Given the description of an element on the screen output the (x, y) to click on. 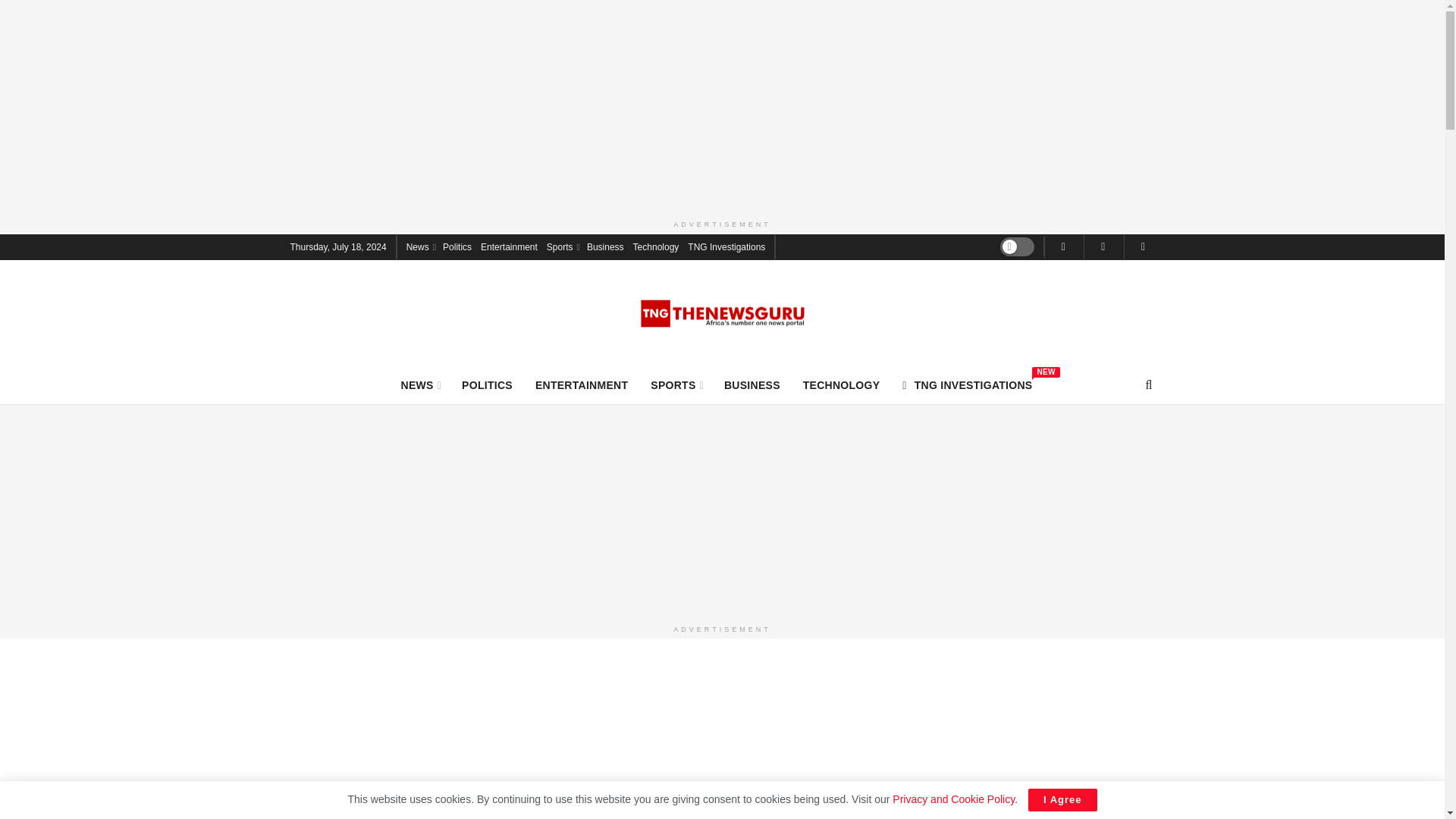
TECHNOLOGY (841, 384)
NEWS (420, 384)
SPORTS (967, 384)
POLITICS (675, 384)
Politics (486, 384)
Business (456, 246)
Advertisement (605, 246)
News (726, 246)
Entertainment (419, 246)
Sports (508, 246)
Technology (562, 246)
Advertisement (656, 246)
